Given the description of an element on the screen output the (x, y) to click on. 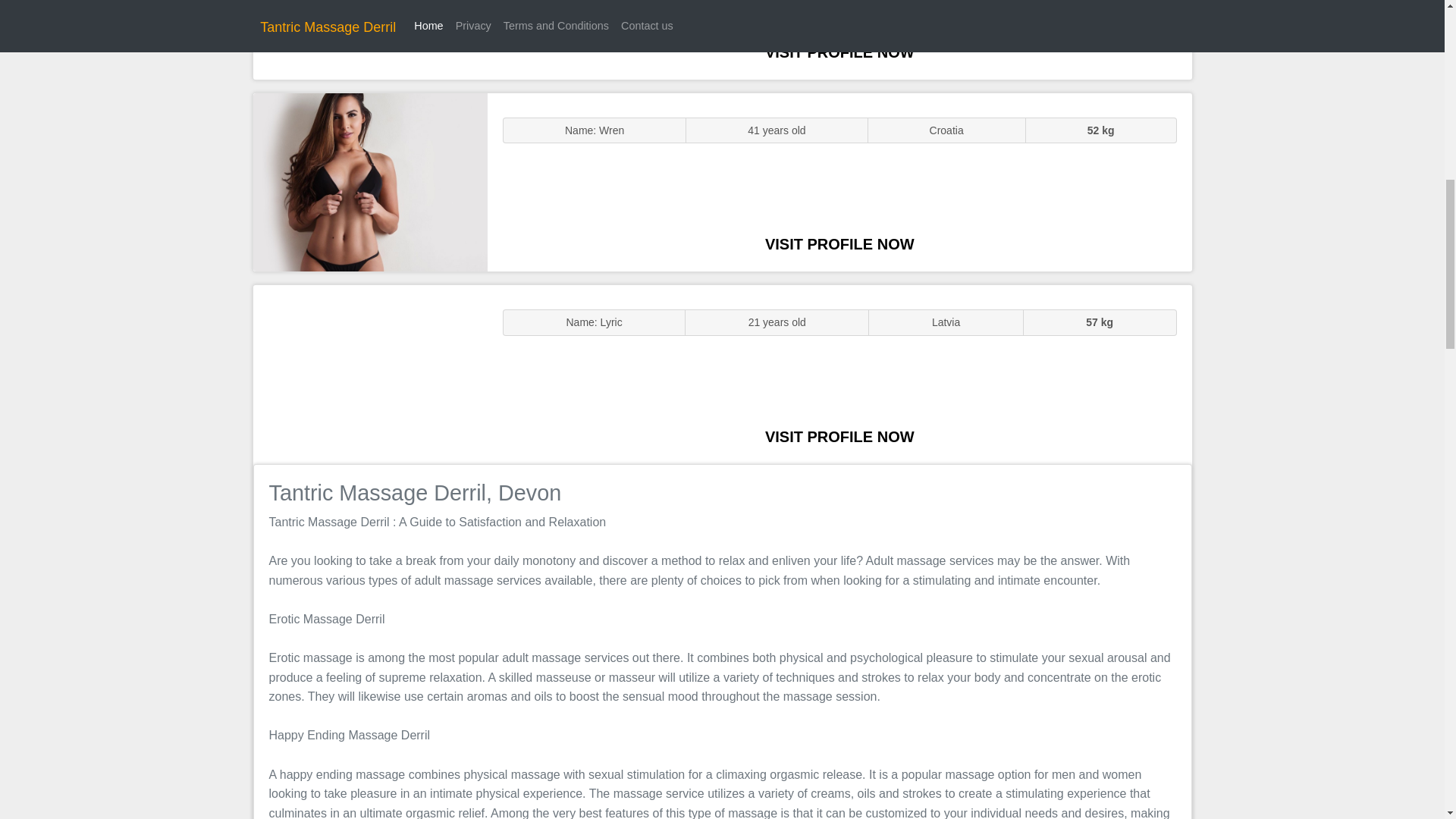
Sluts (370, 182)
Sluts (370, 39)
VISIT PROFILE NOW (839, 243)
VISIT PROFILE NOW (839, 52)
Massage (370, 374)
VISIT PROFILE NOW (839, 436)
